Given the description of an element on the screen output the (x, y) to click on. 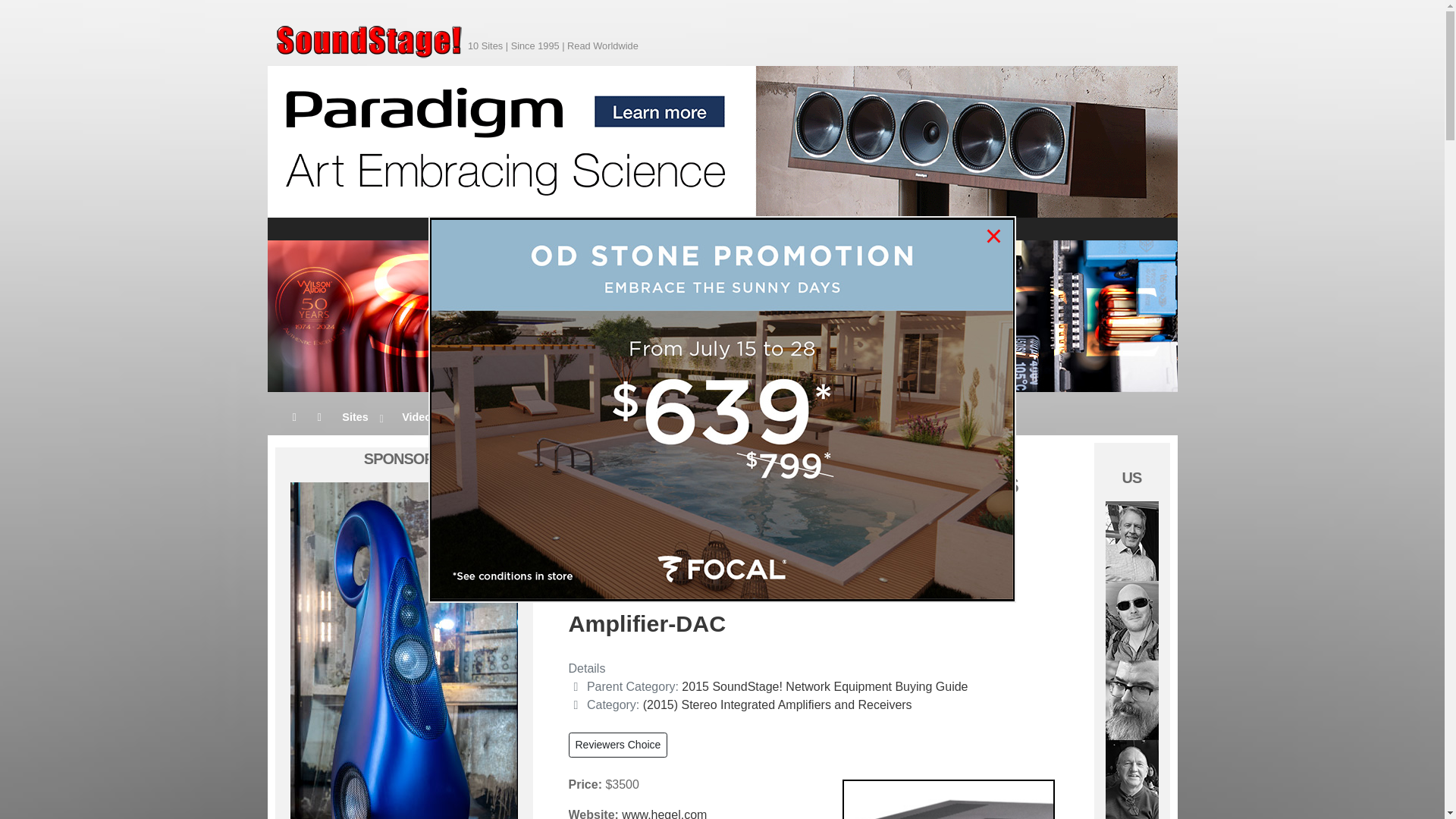
Morrison 70W (1131, 618)
Taylor 70W (1131, 778)
Buying Guides (589, 416)
Burger 70W (1131, 698)
Schneider 70W (1131, 539)
Newsletter (499, 416)
